Given the description of an element on the screen output the (x, y) to click on. 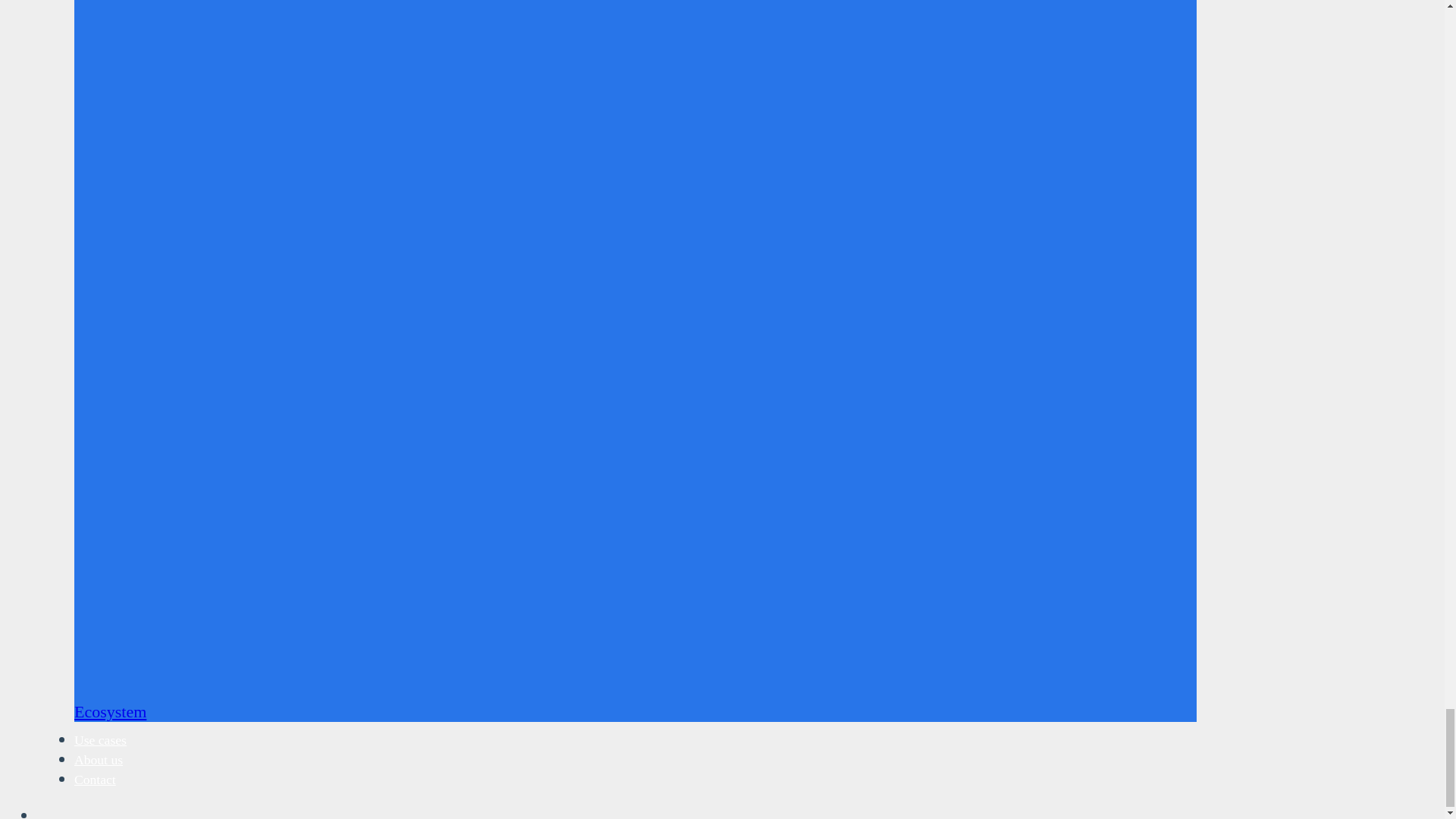
Use cases (100, 739)
Ecosystem (110, 711)
Contact (95, 779)
About us (98, 759)
